Given the description of an element on the screen output the (x, y) to click on. 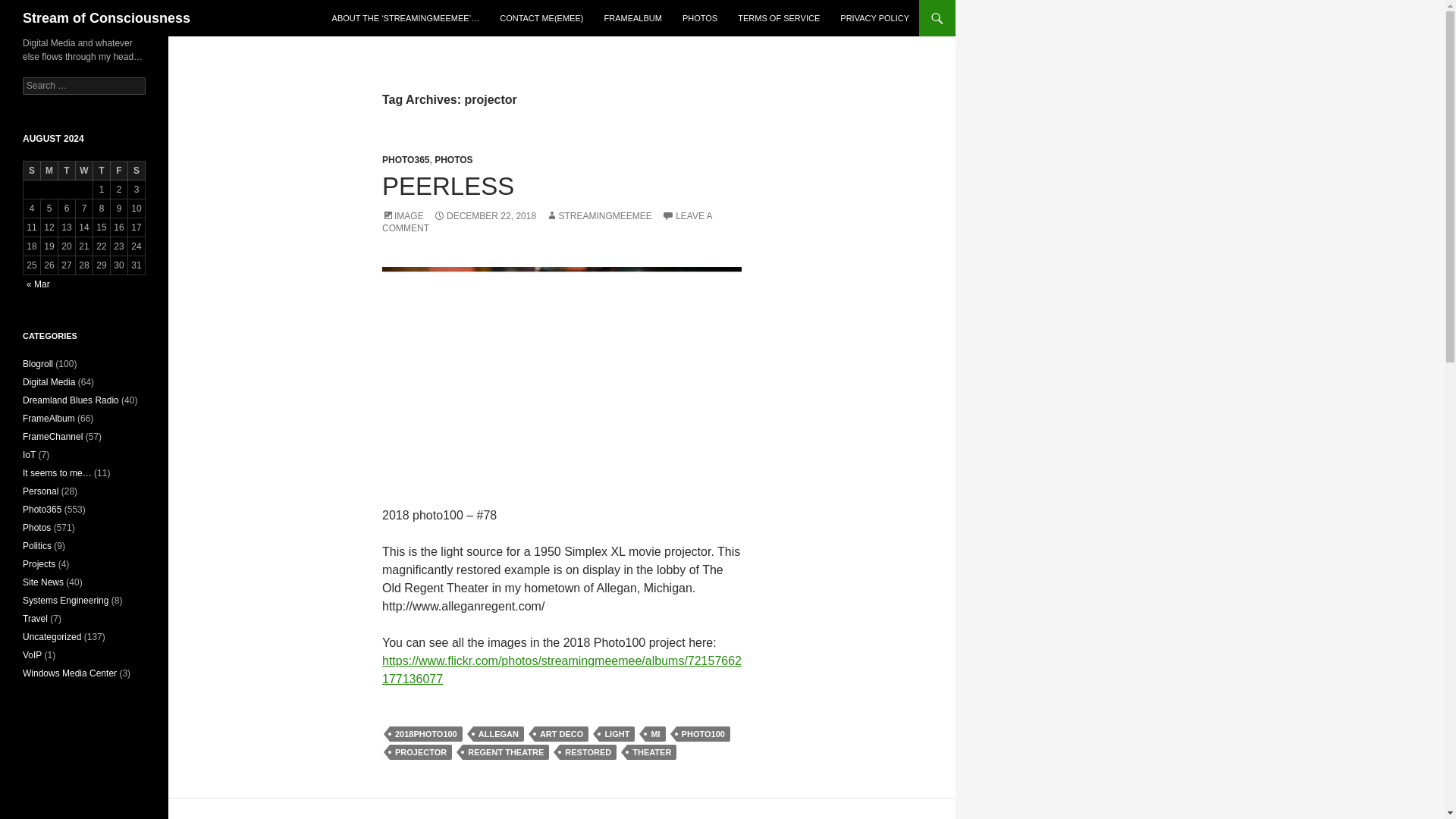
2018PHOTO100 (426, 734)
Thursday (101, 170)
Sunday (31, 170)
FRAMEALBUM (631, 18)
Stream of Consciousness (106, 18)
RESTORED (587, 752)
Friday (119, 170)
PHOTO100 (703, 734)
ART DECO (561, 734)
TERMS OF SERVICE (778, 18)
